Given the description of an element on the screen output the (x, y) to click on. 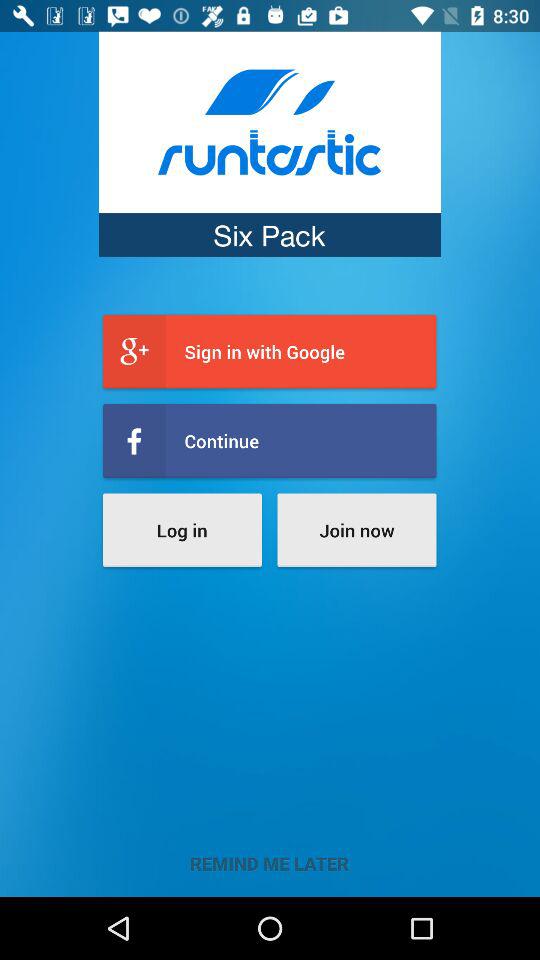
select icon below the continue item (182, 529)
